Given the description of an element on the screen output the (x, y) to click on. 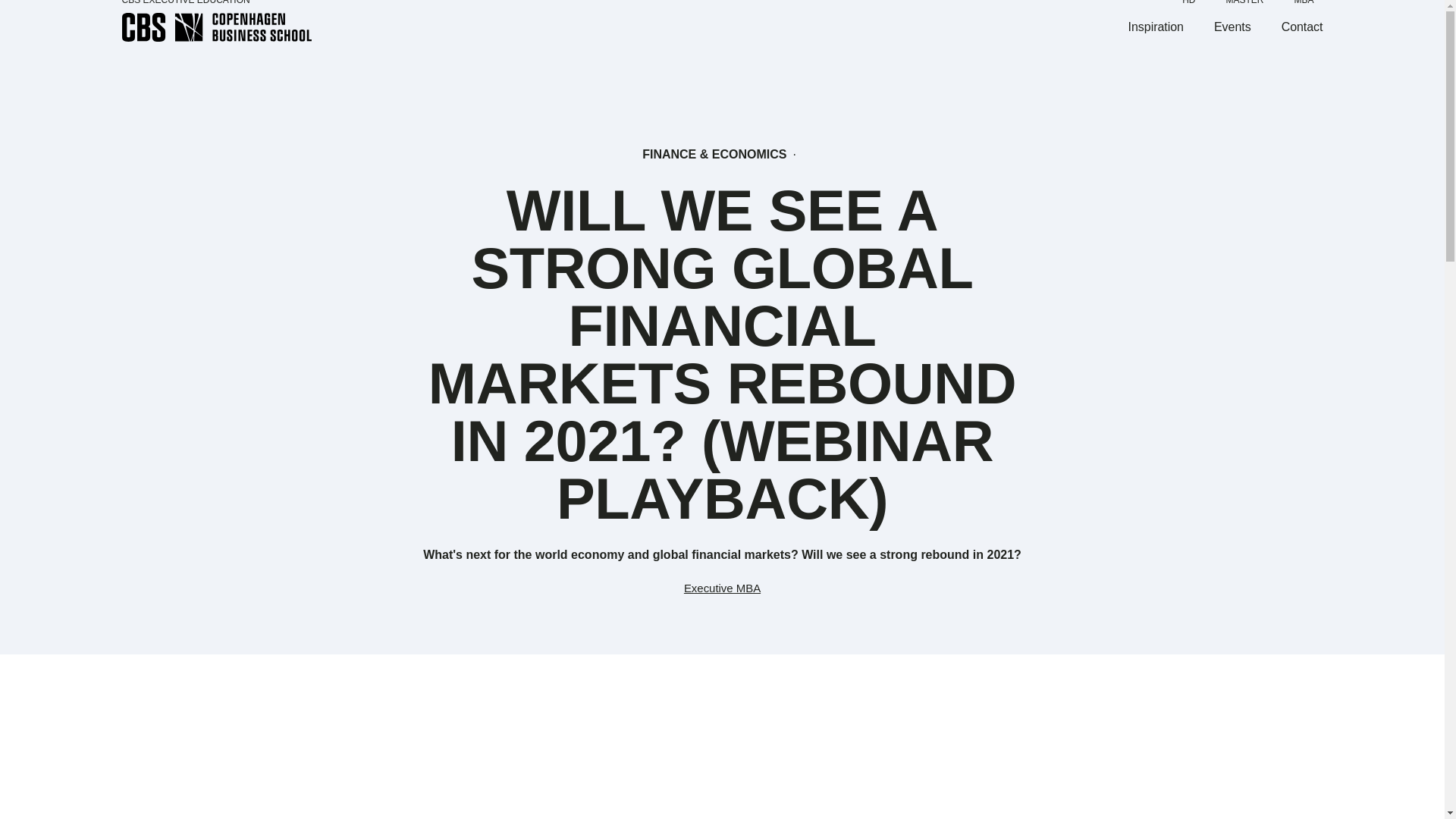
Contact (1302, 27)
CBS EXECUTIVE EDUCATION (184, 2)
HD (1188, 2)
Executive MBA (722, 587)
Inspiration (1155, 27)
Events (1232, 27)
MASTER (1244, 2)
MBA (1303, 2)
